Given the description of an element on the screen output the (x, y) to click on. 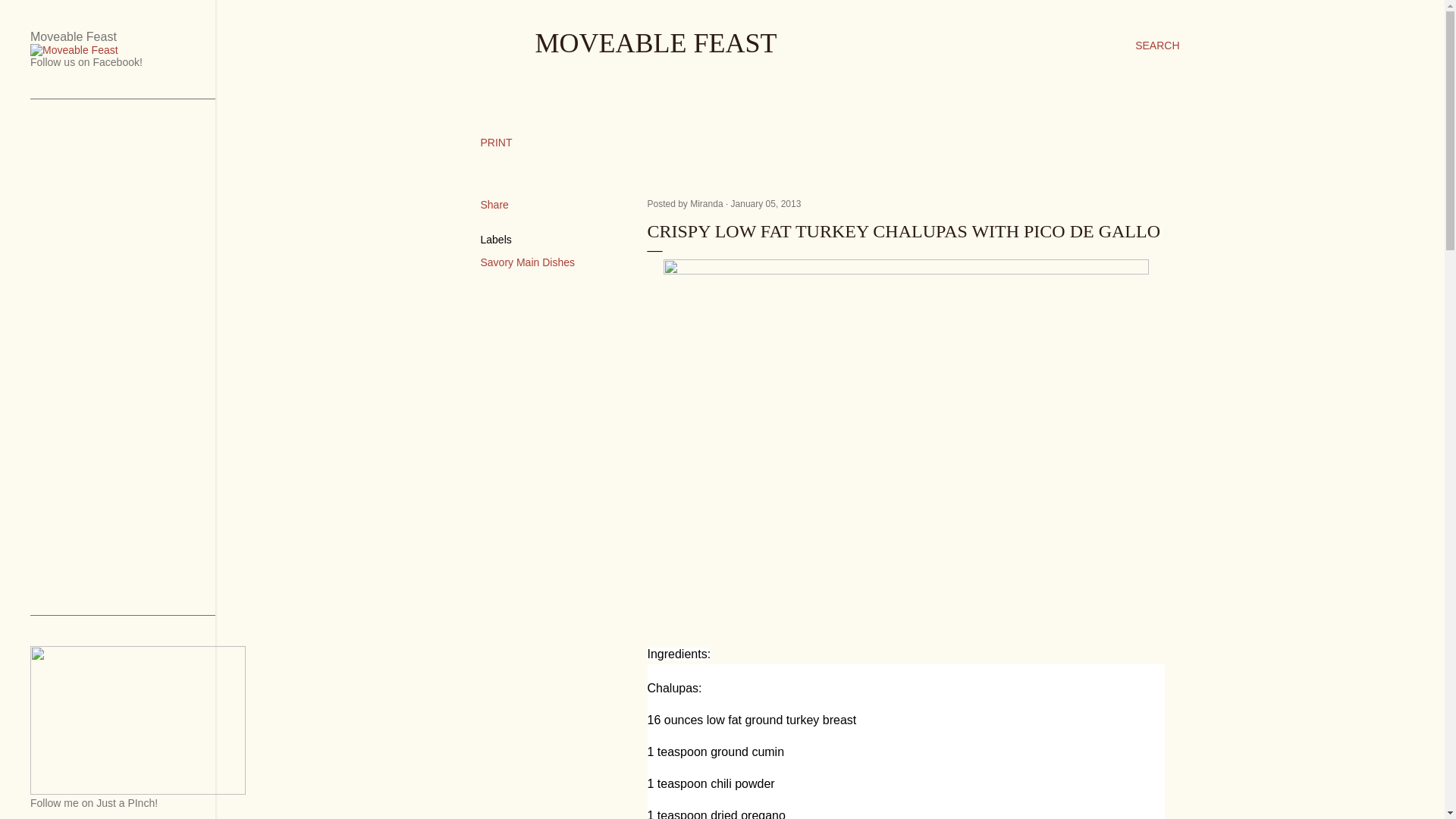
Miranda (707, 204)
Savory Main Dishes (527, 262)
permanent link (766, 204)
SEARCH (1157, 45)
MOVEABLE FEAST (656, 42)
author profile (707, 204)
January 05, 2013 (766, 204)
Share (494, 204)
